Given the description of an element on the screen output the (x, y) to click on. 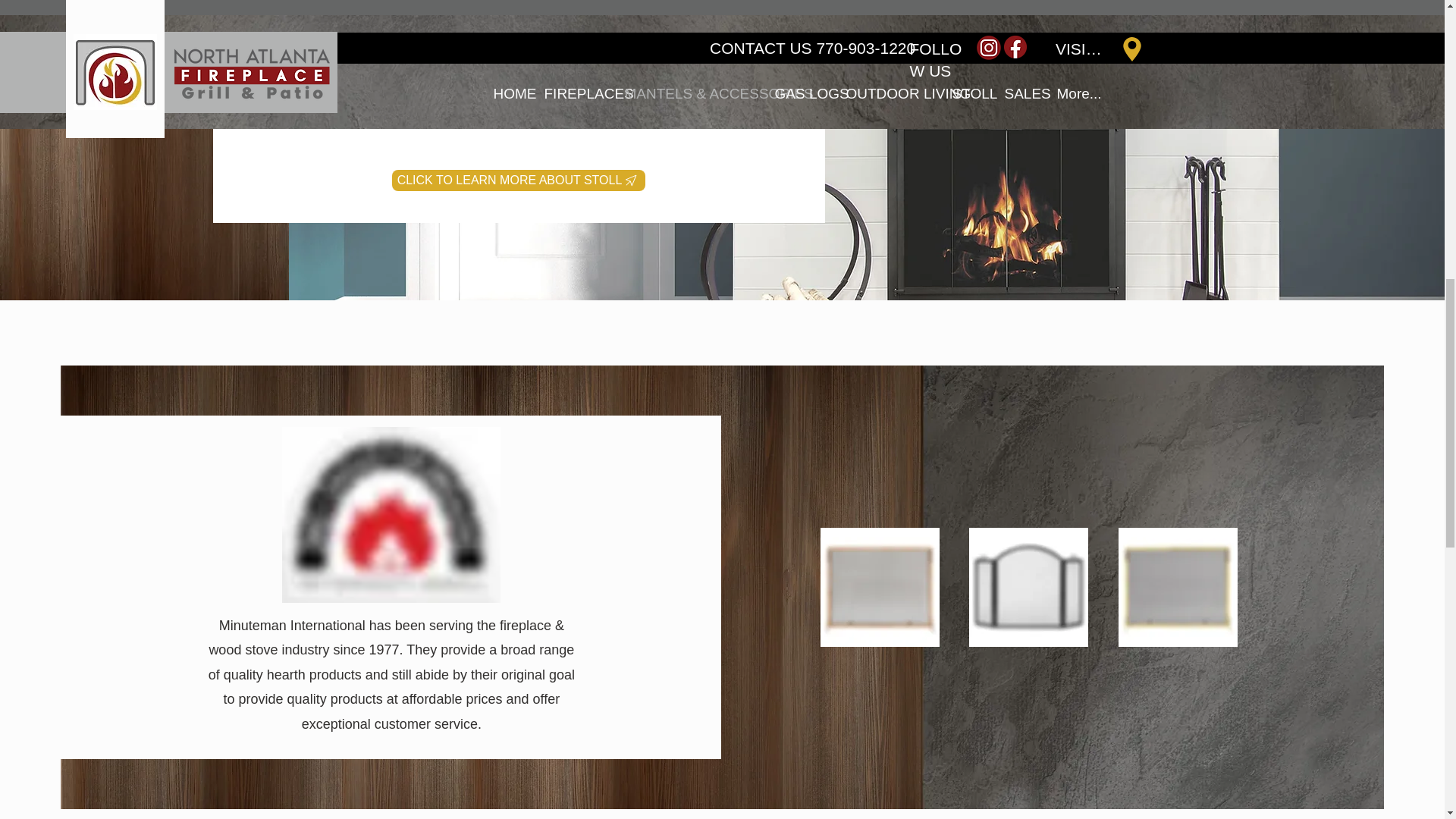
Minuteman Screen SSM-3830CP.jpeg (880, 587)
Minuteman Screen SS-32.jpeg (1028, 587)
CLICK TO LEARN MORE ABOUT STOLL (518, 179)
